Given the description of an element on the screen output the (x, y) to click on. 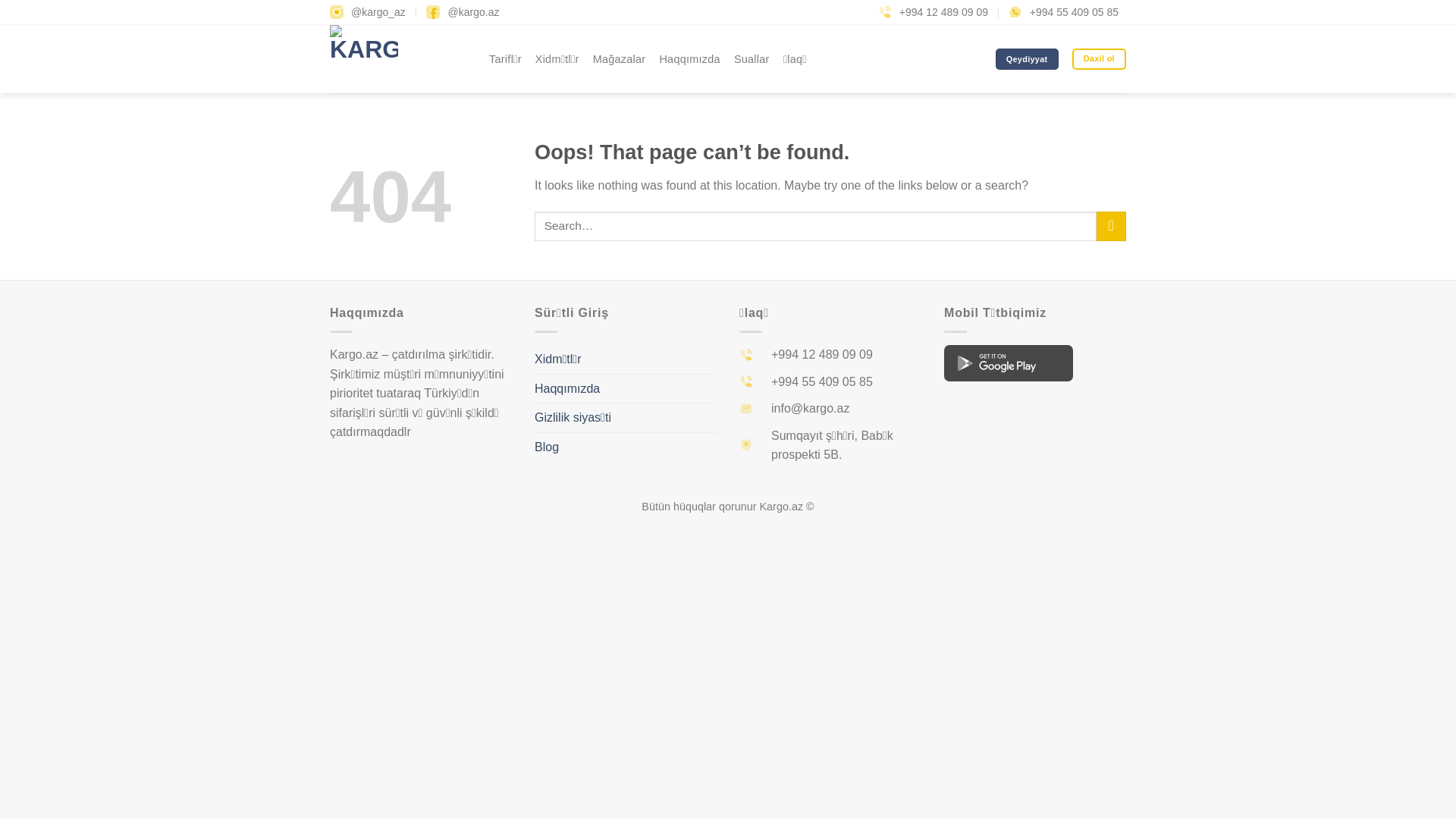
+994 55 409 05 85 Element type: text (1067, 12)
Daxil ol Element type: text (1099, 58)
Qeydiyyat Element type: text (1026, 58)
Blog Element type: text (546, 447)
+994 12 489 09 09 Element type: text (936, 12)
@kargo.az Element type: text (466, 12)
@kargo_az Element type: text (371, 12)
Suallar Element type: text (751, 58)
